Given the description of an element on the screen output the (x, y) to click on. 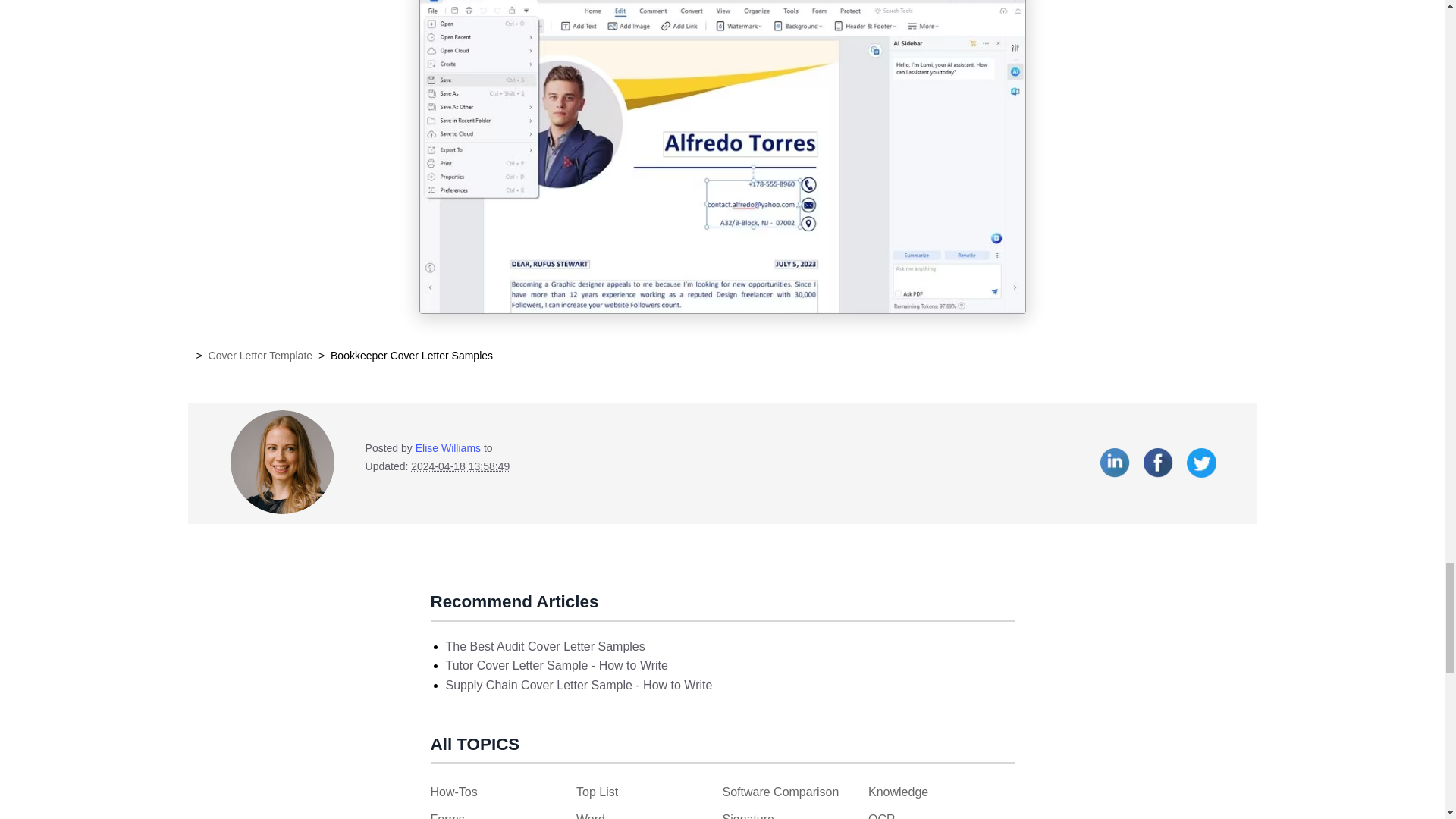
2024-04-18 13:58:49 (459, 466)
